Given the description of an element on the screen output the (x, y) to click on. 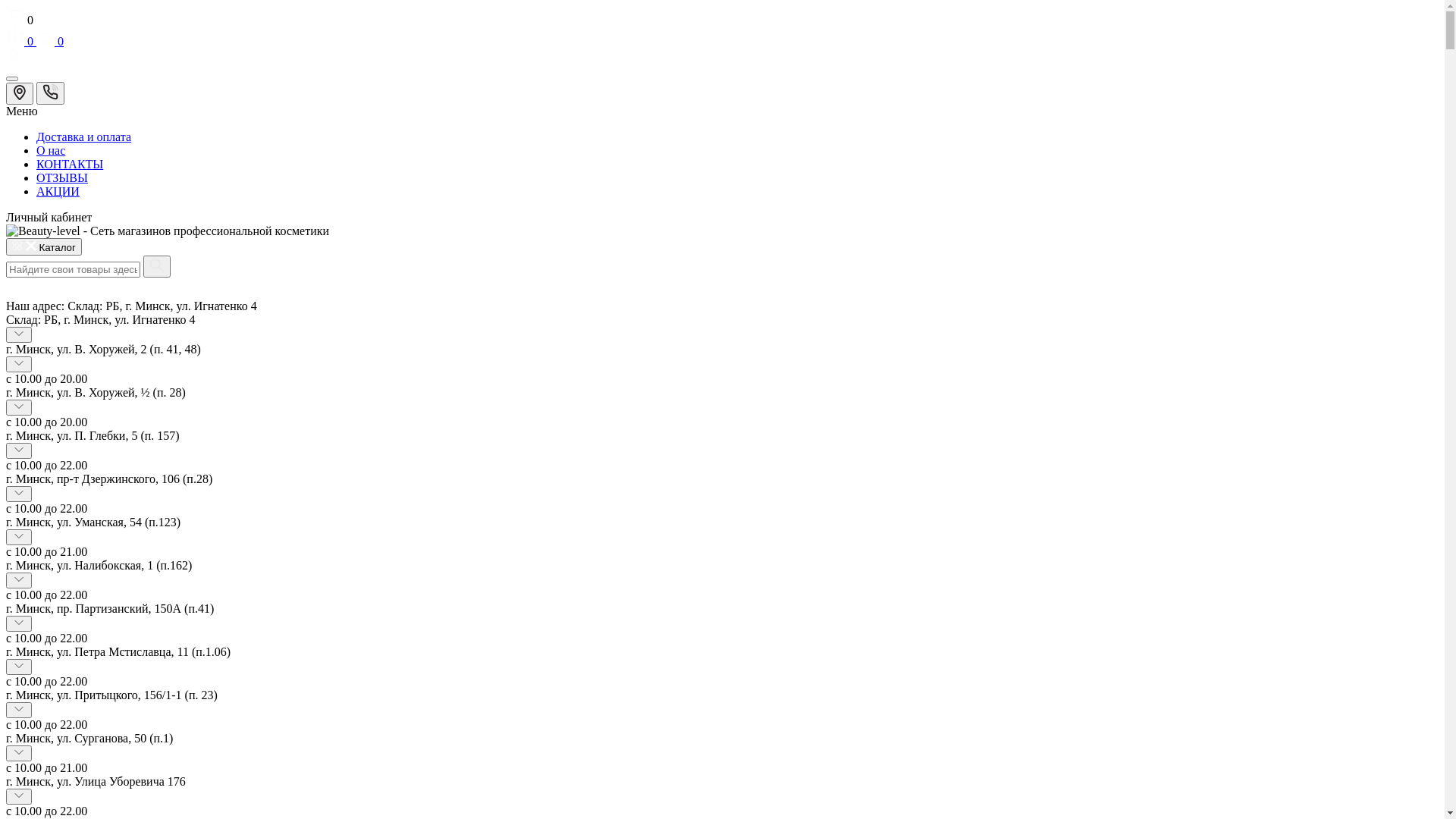
0 Element type: text (49, 40)
0 Element type: text (21, 40)
0 Element type: text (722, 16)
